Given the description of an element on the screen output the (x, y) to click on. 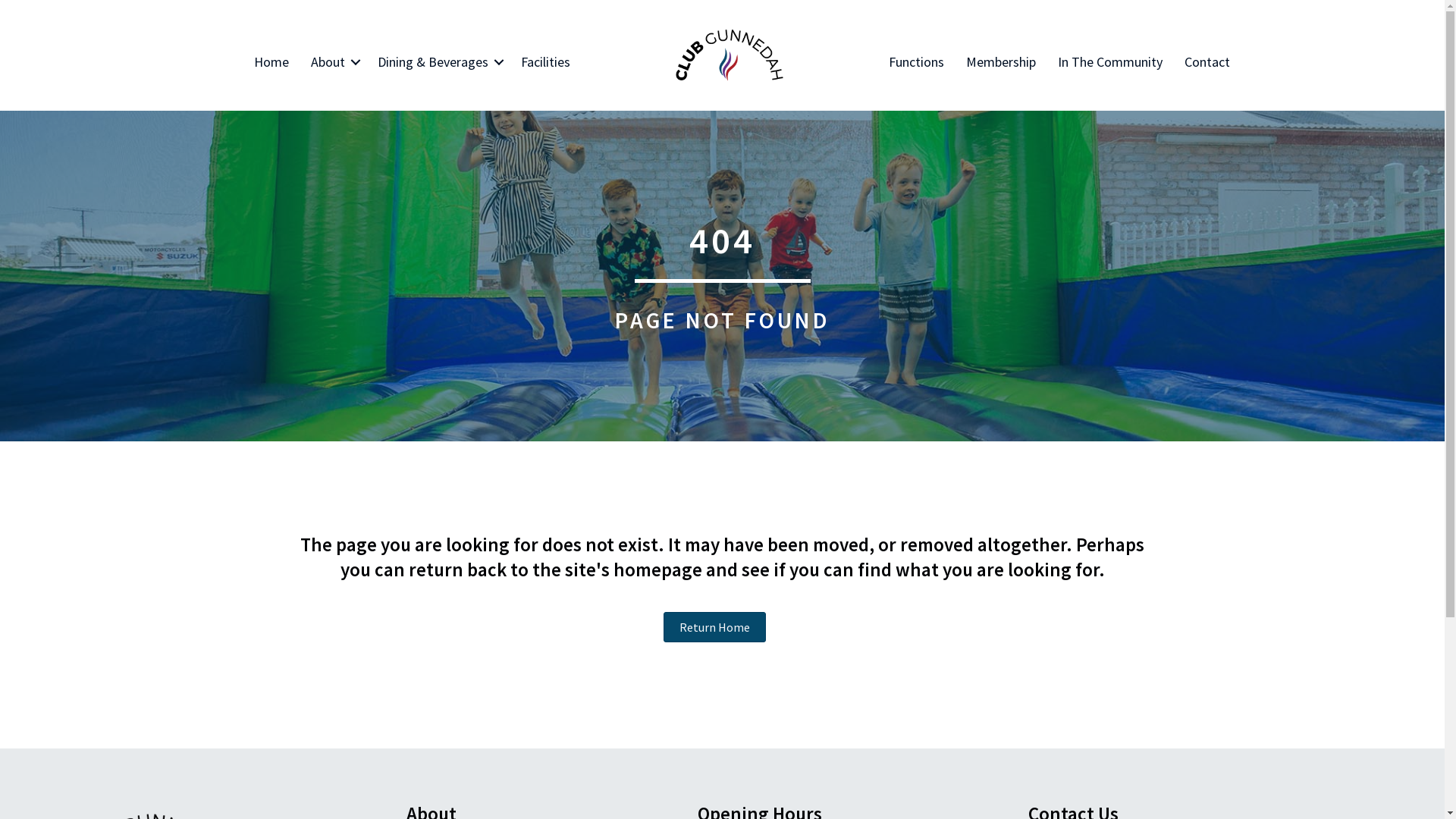
Membership Element type: text (1000, 61)
About Element type: text (333, 61)
230208_GSC_CGLogo_v01 Element type: hover (729, 54)
Facilities Element type: text (545, 61)
Home Element type: text (271, 61)
Dining & Beverages Element type: text (438, 61)
Contact Element type: text (1206, 61)
Functions Element type: text (916, 61)
In The Community Element type: text (1110, 61)
Return Home Element type: text (714, 626)
